Given the description of an element on the screen output the (x, y) to click on. 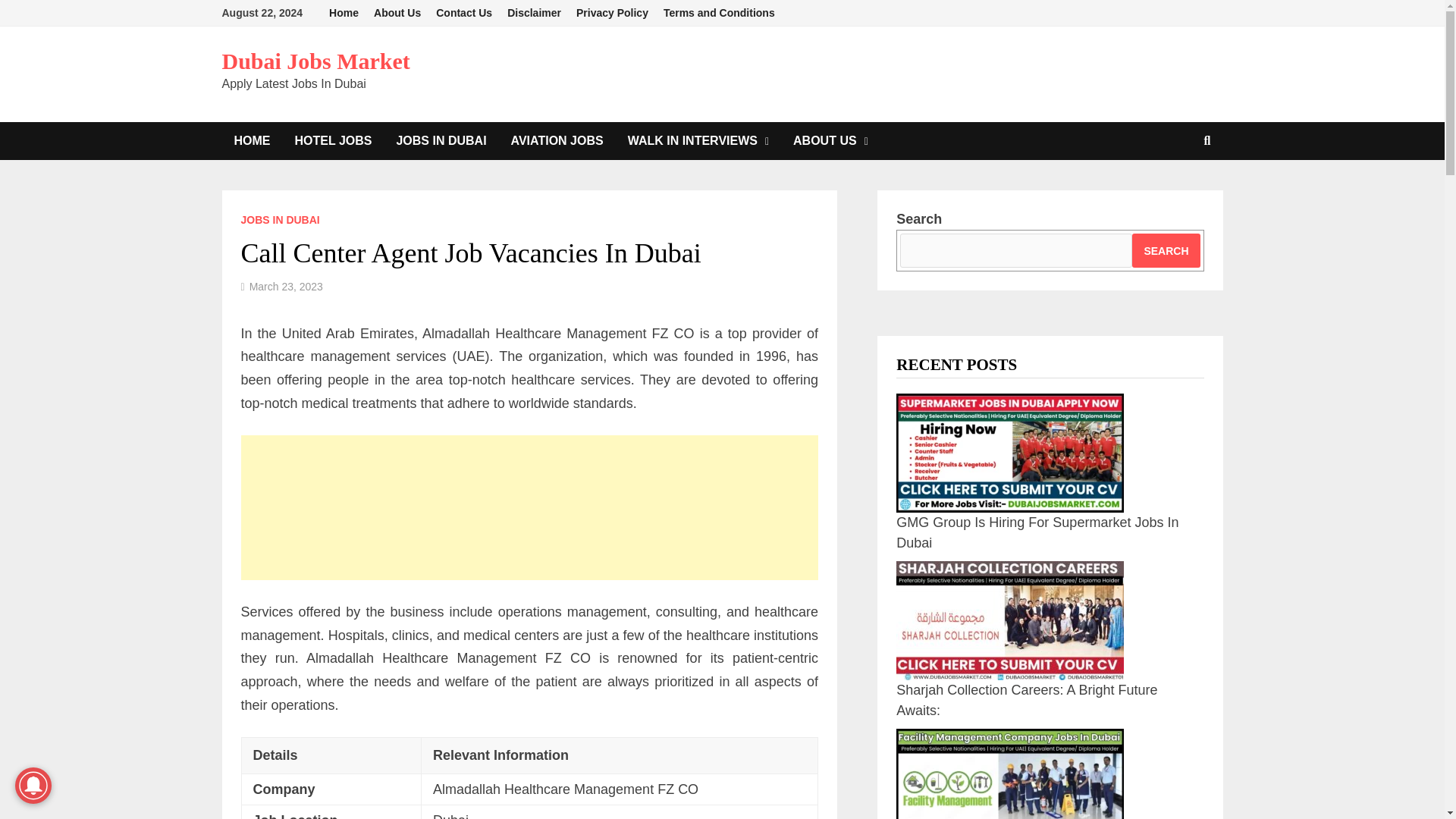
HOTEL JOBS (333, 140)
Home (343, 13)
HOME (251, 140)
About Us (397, 13)
Advertisement (529, 506)
Terms and Conditions (719, 13)
Dubai Jobs Market (315, 60)
AVIATION JOBS (557, 140)
WALK IN INTERVIEWS (697, 140)
ABOUT US (830, 140)
